Given the description of an element on the screen output the (x, y) to click on. 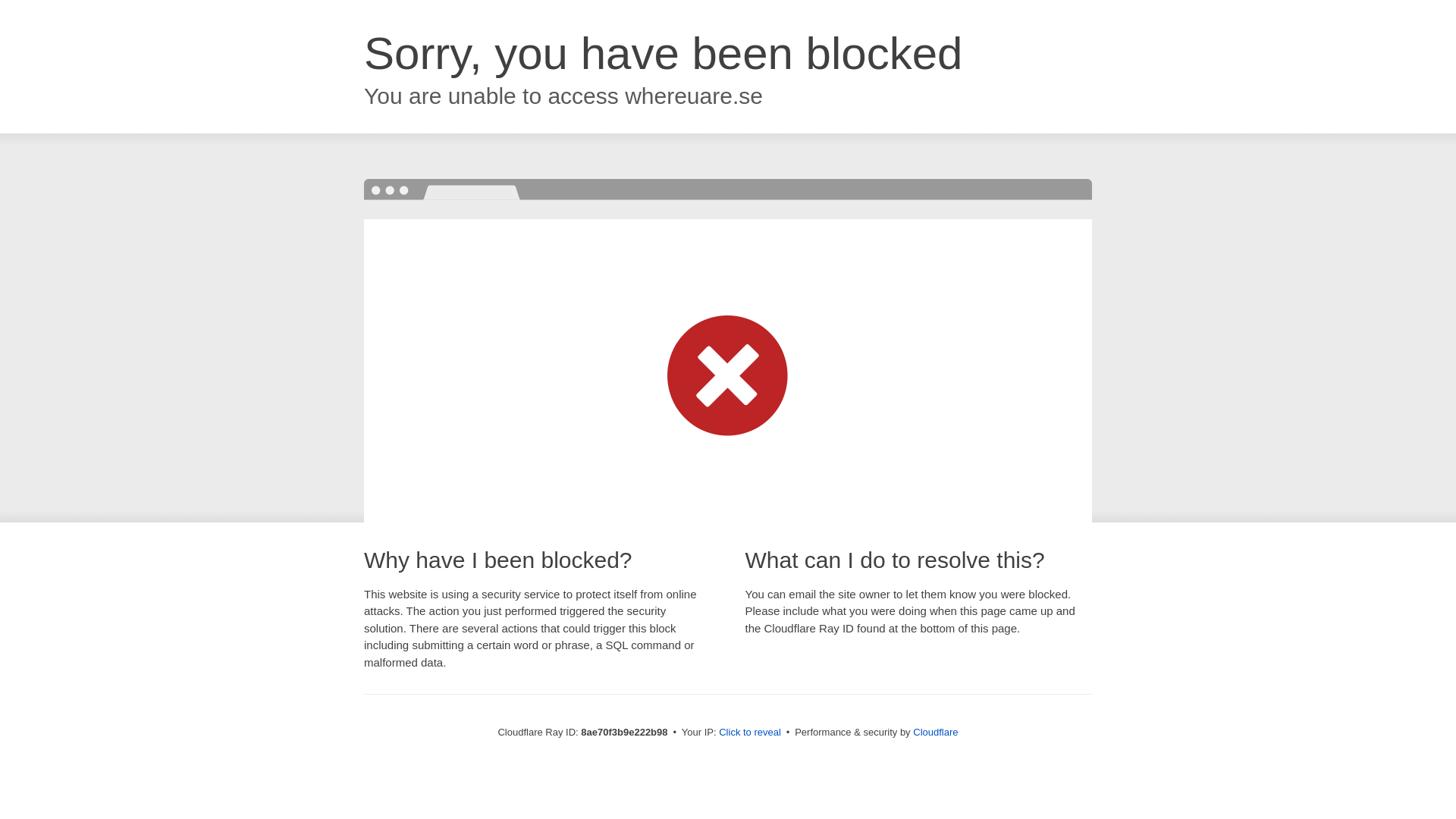
Cloudflare (935, 731)
Click to reveal (749, 732)
